Given the description of an element on the screen output the (x, y) to click on. 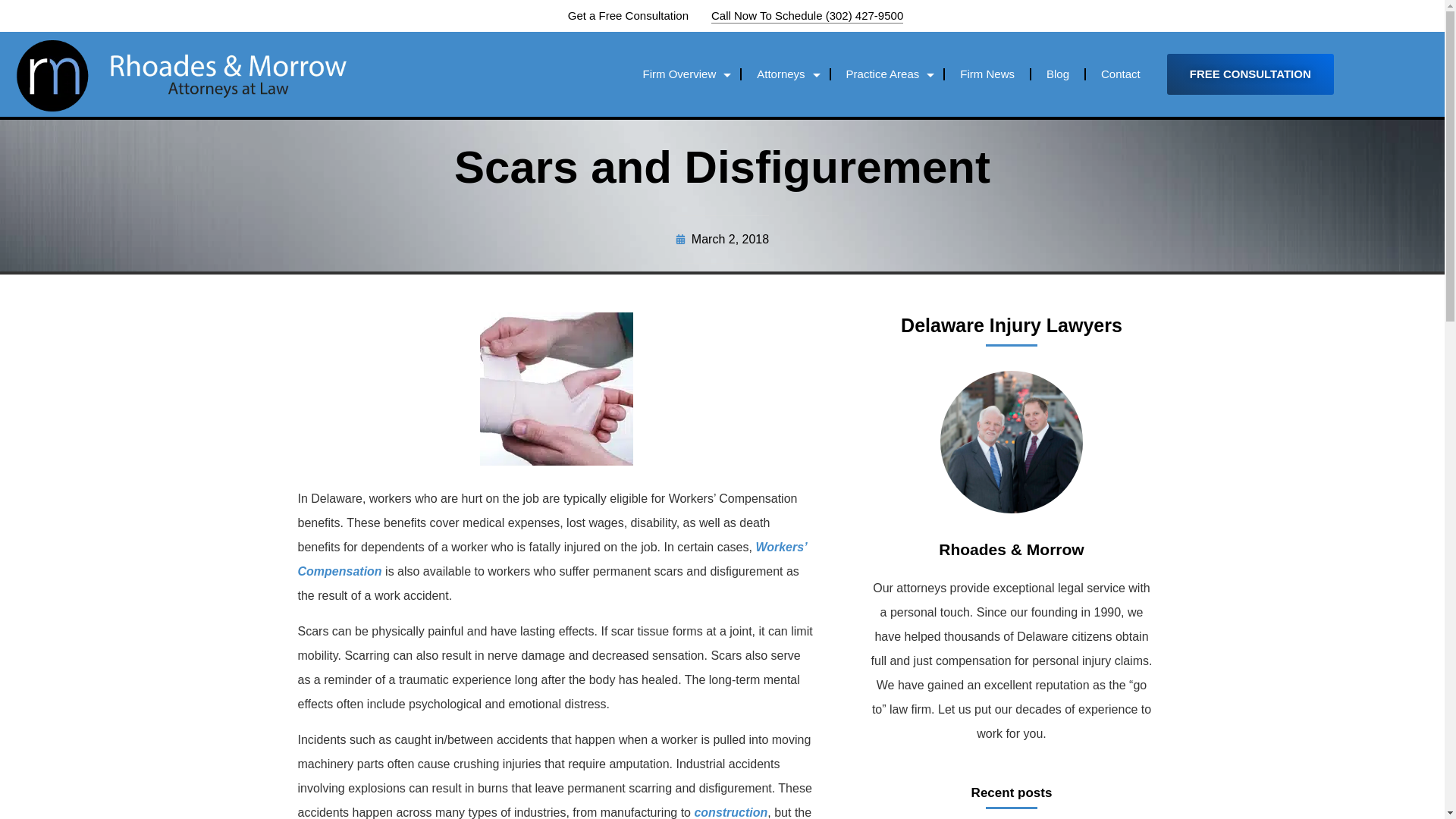
Contact (1121, 73)
Blog (1057, 73)
Practice Areas (887, 73)
Firm News (986, 73)
Firm Overview (684, 73)
Attorneys (784, 73)
